Given the description of an element on the screen output the (x, y) to click on. 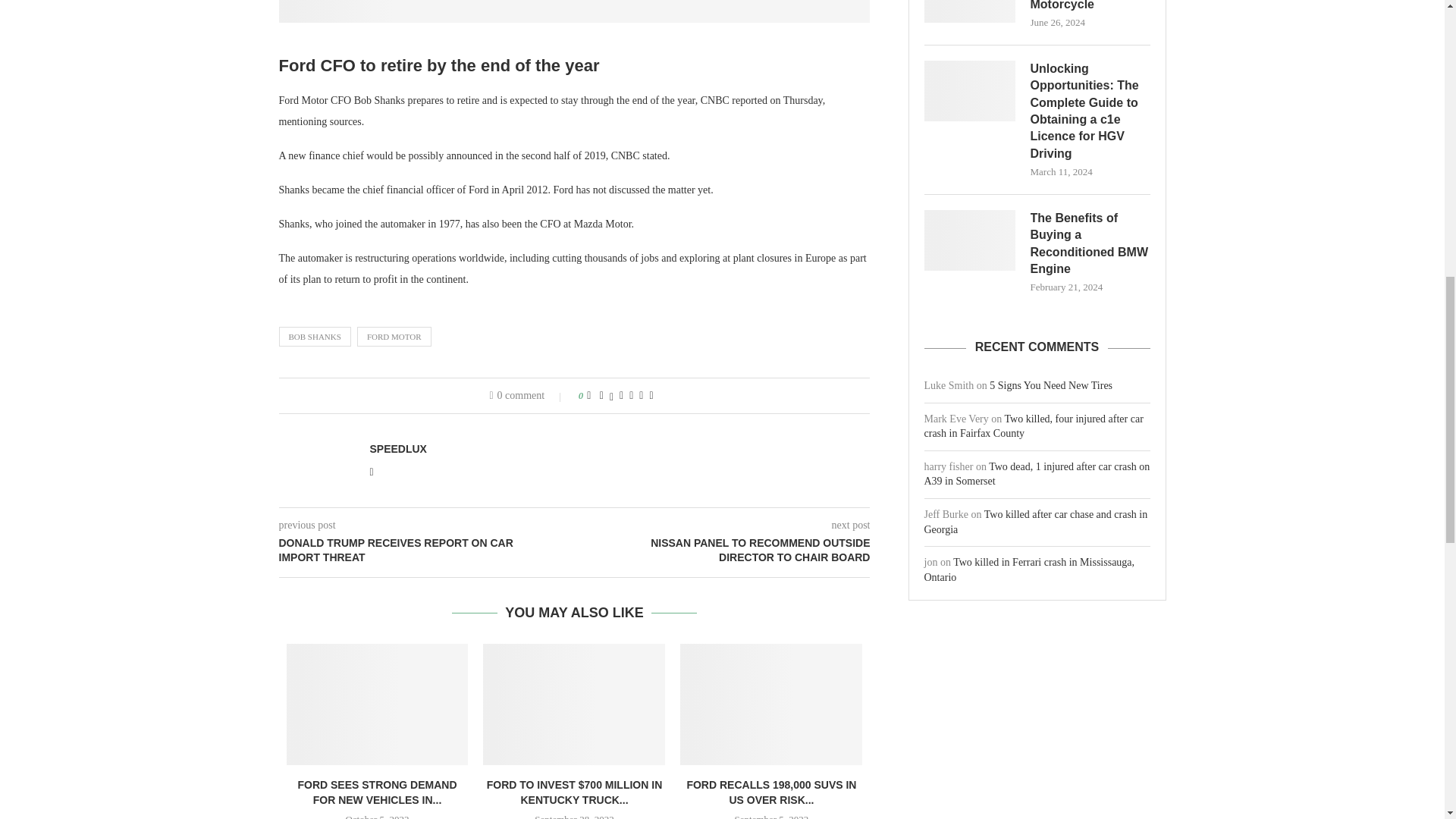
FORD RECALLS 198,000 SUVS IN US OVER RISK... (770, 791)
SPEEDLUX (397, 449)
BOB SHANKS (314, 336)
FORD MOTOR (393, 336)
NISSAN PANEL TO RECOMMEND OUTSIDE DIRECTOR TO CHAIR BOARD (722, 550)
ford-logo (574, 11)
Ford sees strong demand for new vehicles in September (377, 703)
FORD SEES STRONG DEMAND FOR NEW VEHICLES IN... (377, 791)
Ford recalls 198,000 SUVs in US over risk of fire (770, 703)
DONALD TRUMP RECEIVES REPORT ON CAR IMPORT THREAT (427, 550)
Author SpeedLux (397, 449)
